Given the description of an element on the screen output the (x, y) to click on. 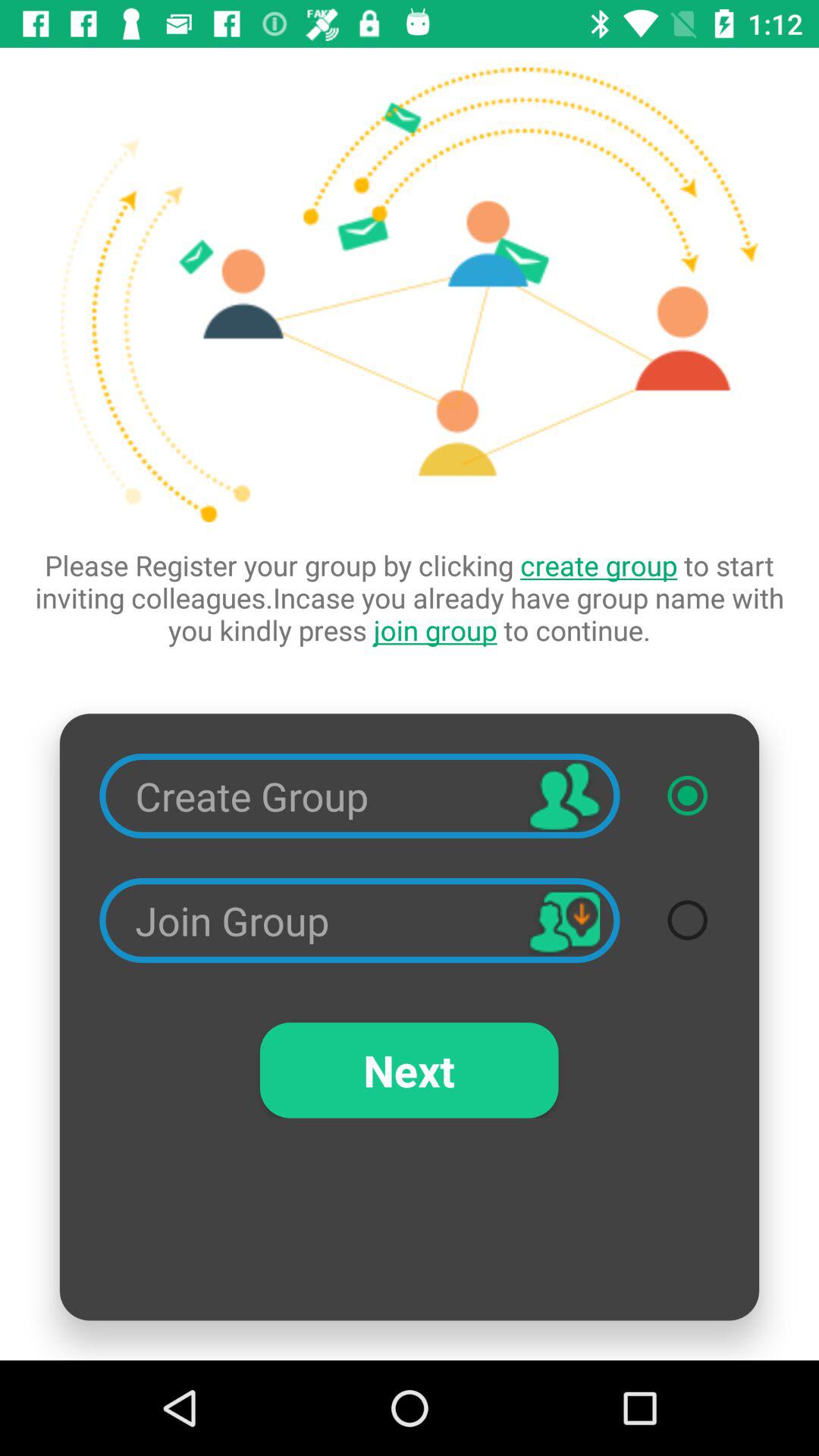
click to join group (687, 920)
